Given the description of an element on the screen output the (x, y) to click on. 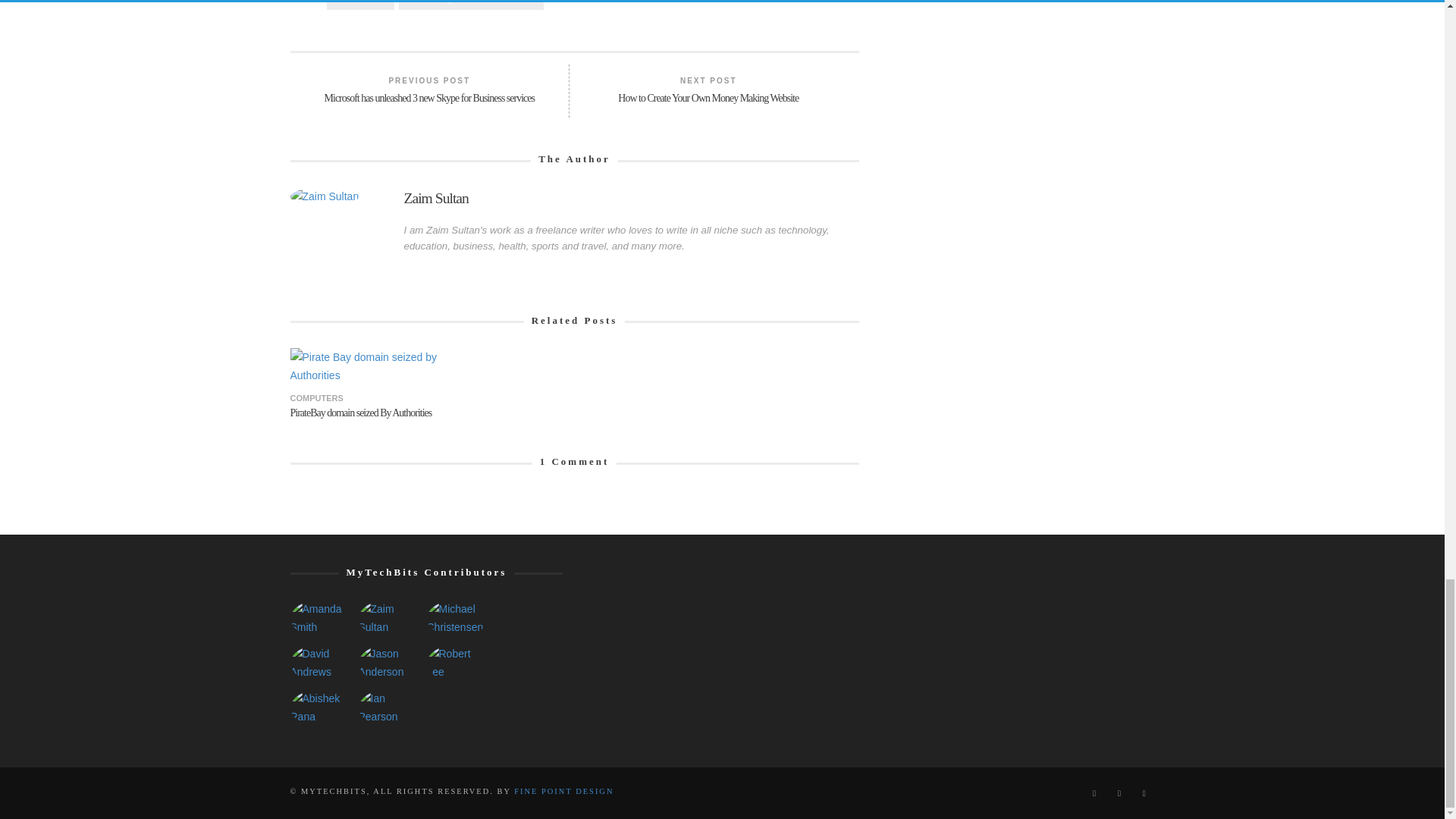
Twitter (1144, 793)
Facebook (1093, 793)
RSS (1118, 793)
